Given the description of an element on the screen output the (x, y) to click on. 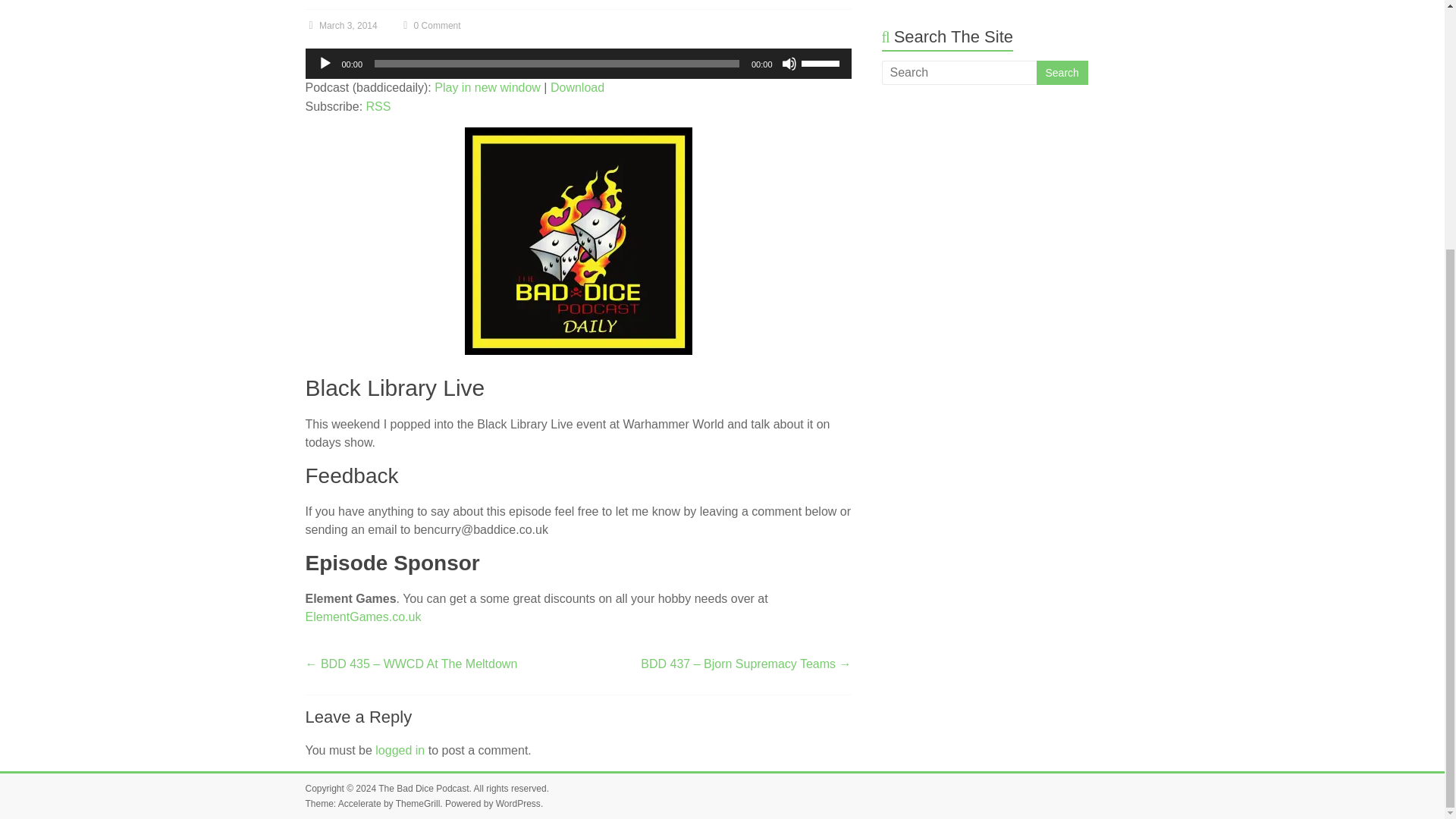
The Bad Dice Podcast (423, 787)
Play in new window (486, 87)
WordPress (518, 803)
Search (1061, 72)
ElementGames.co.uk (362, 616)
Subscribe via RSS (378, 106)
Accelerate (359, 803)
March 3, 2014 (340, 25)
The Bad Dice Podcast (423, 787)
0 Comment (429, 25)
logged in (400, 749)
Accelerate (359, 803)
Download (577, 87)
WordPress (518, 803)
Search (1061, 72)
